Given the description of an element on the screen output the (x, y) to click on. 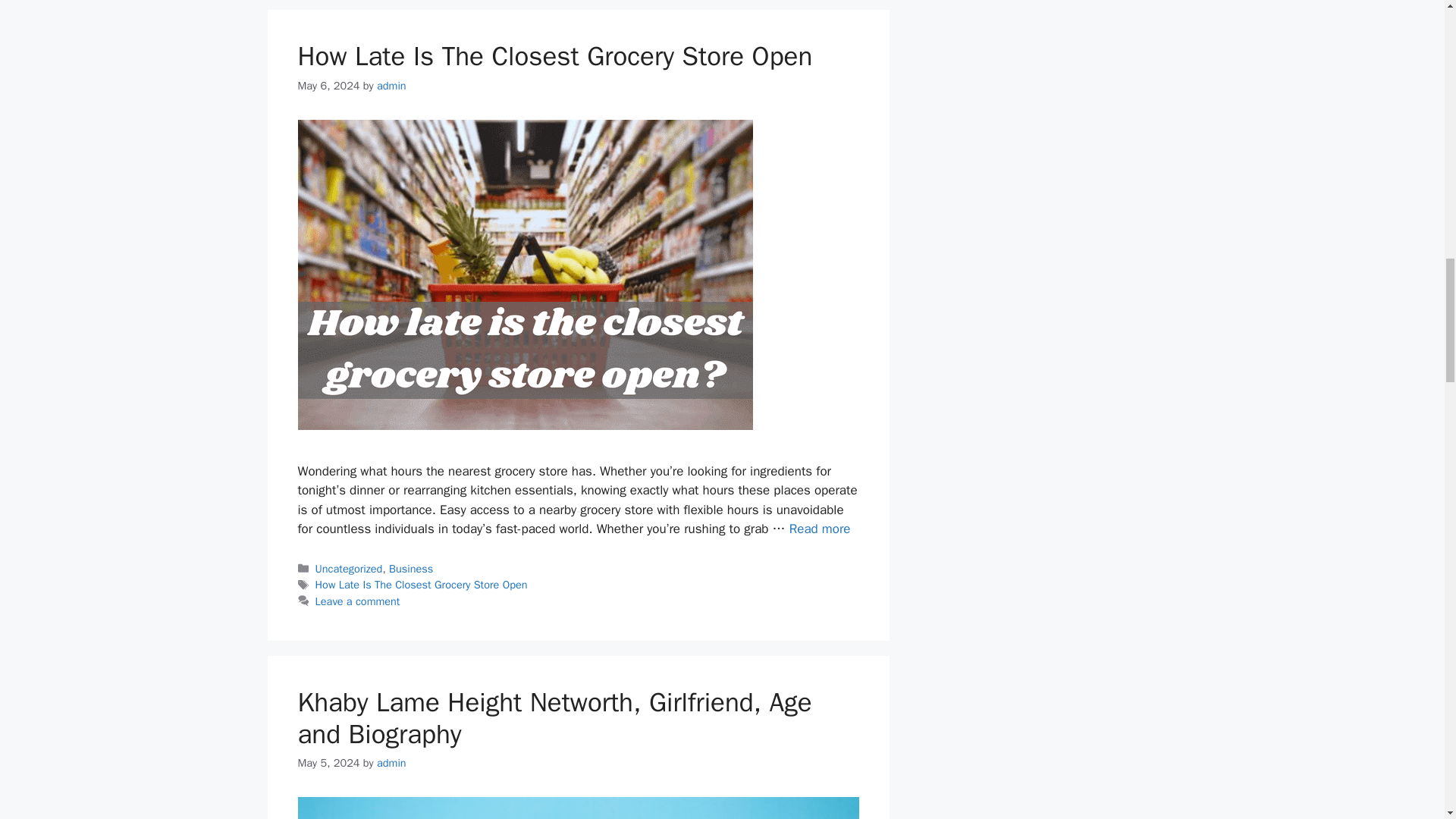
How Late Is The Closest Grocery Store Open (421, 584)
admin (391, 762)
How Late Is The Closest Grocery Store Open (554, 55)
Read more (819, 528)
admin (391, 85)
Khaby Lame Height Networth, Girlfriend, Age and Biography (553, 718)
How Late Is The Closest Grocery Store Open (819, 528)
View all posts by admin (391, 85)
Leave a comment (357, 601)
Business (410, 568)
